Given the description of an element on the screen output the (x, y) to click on. 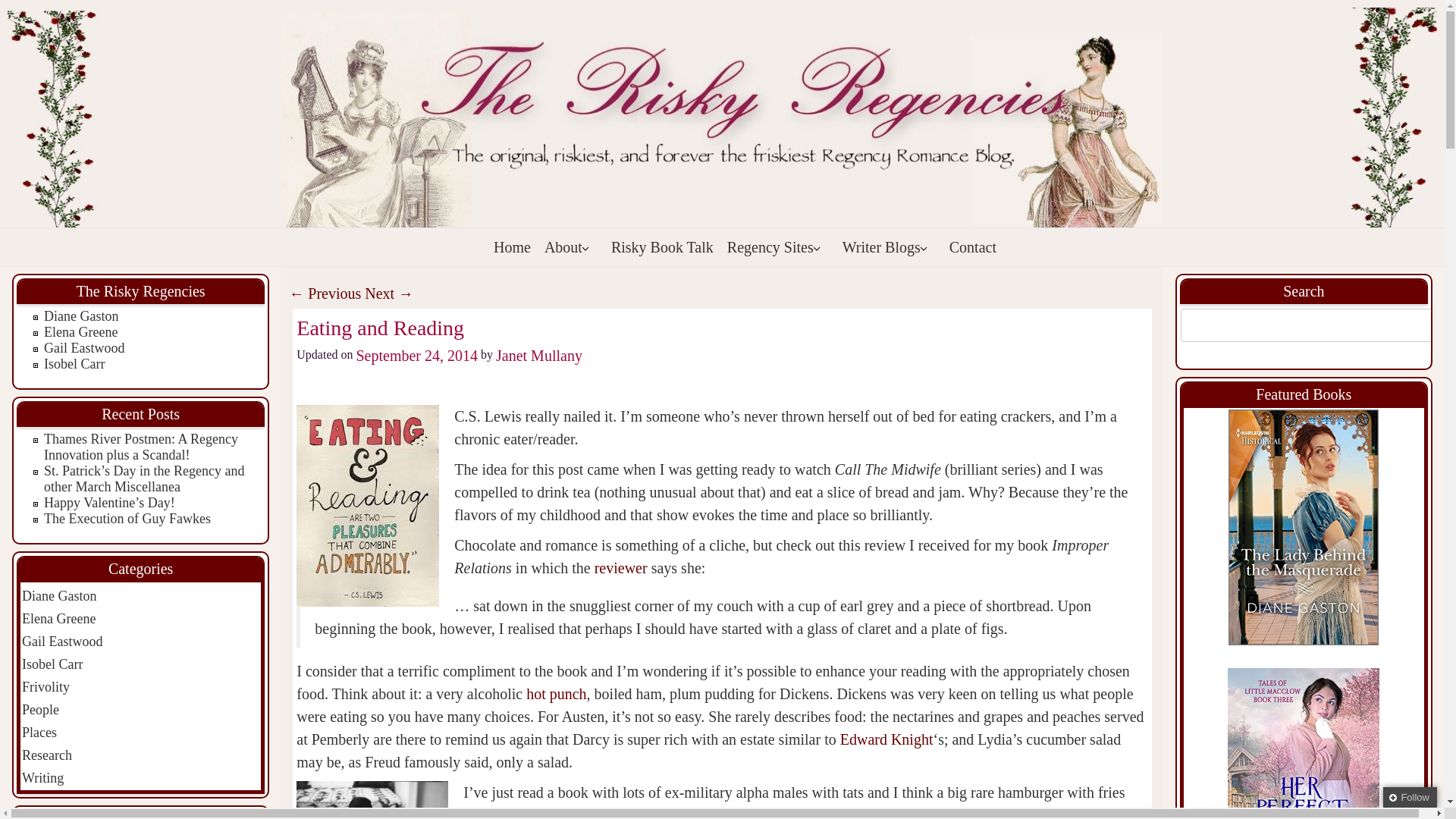
Diane Gaston (80, 315)
Website of author Gail Eastwood (83, 347)
View all posts by Janet Mullany (539, 355)
Risky Book Talk (662, 247)
Regency Sites (777, 247)
Contact (972, 247)
Gail Eastwood (83, 347)
The website of romance author Isobel Carr (73, 363)
Elena Greene (80, 331)
Home (512, 247)
Writer Blogs (889, 247)
About (570, 247)
Isobel Carr (73, 363)
Permalink to Eating and Reading (380, 327)
Thames River Postmen: A Regency Innovation plus a Scandal! (140, 446)
